Given the description of an element on the screen output the (x, y) to click on. 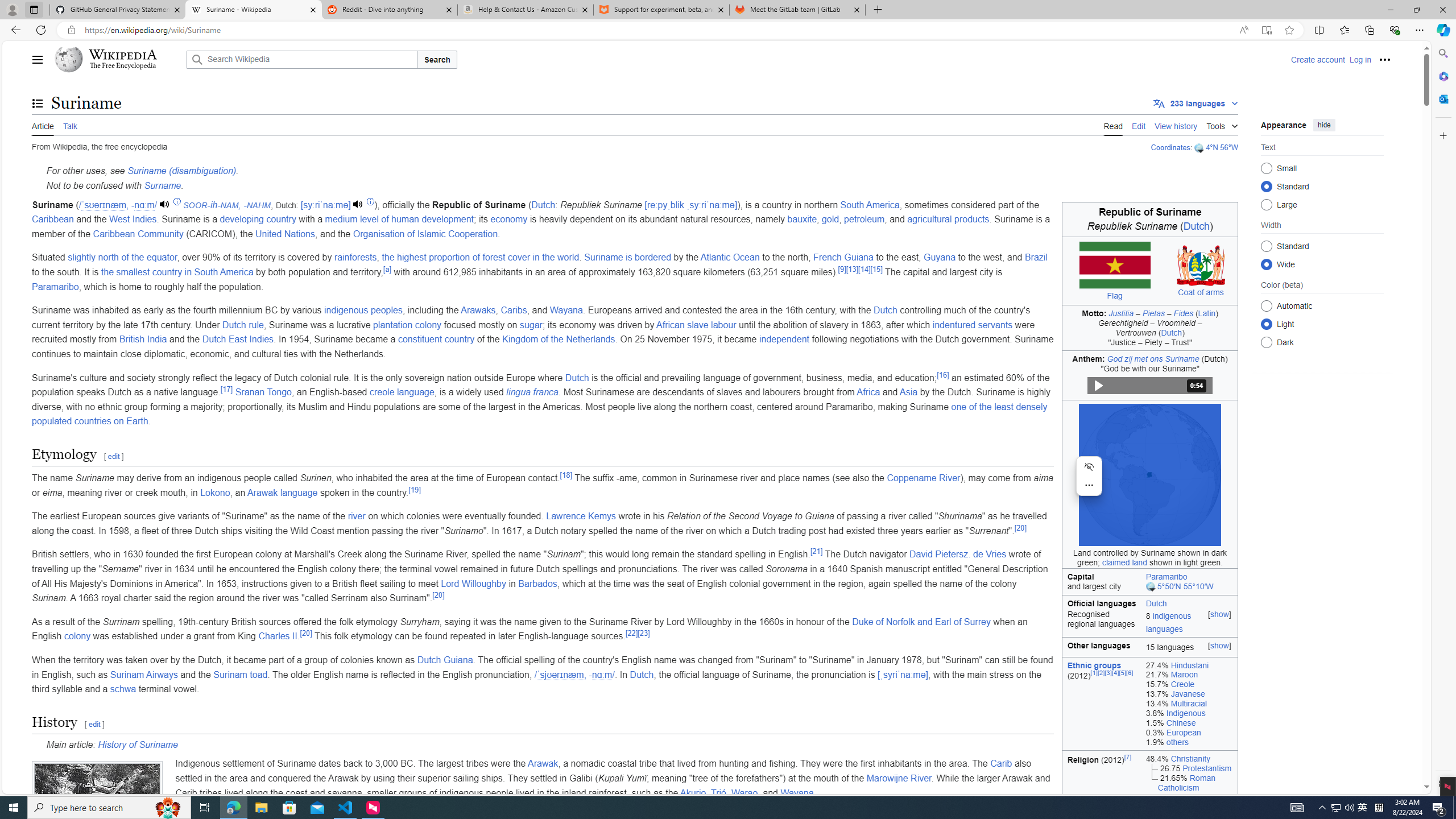
[3] (1108, 672)
Suriname - Wikipedia (253, 9)
Marowijne River (898, 777)
[15] (876, 268)
Surname (163, 185)
Roman Catholicism (1186, 782)
Dutch rule (242, 324)
Meet the GitLab team | GitLab (797, 9)
[19] (413, 488)
View history (1176, 124)
